Given the description of an element on the screen output the (x, y) to click on. 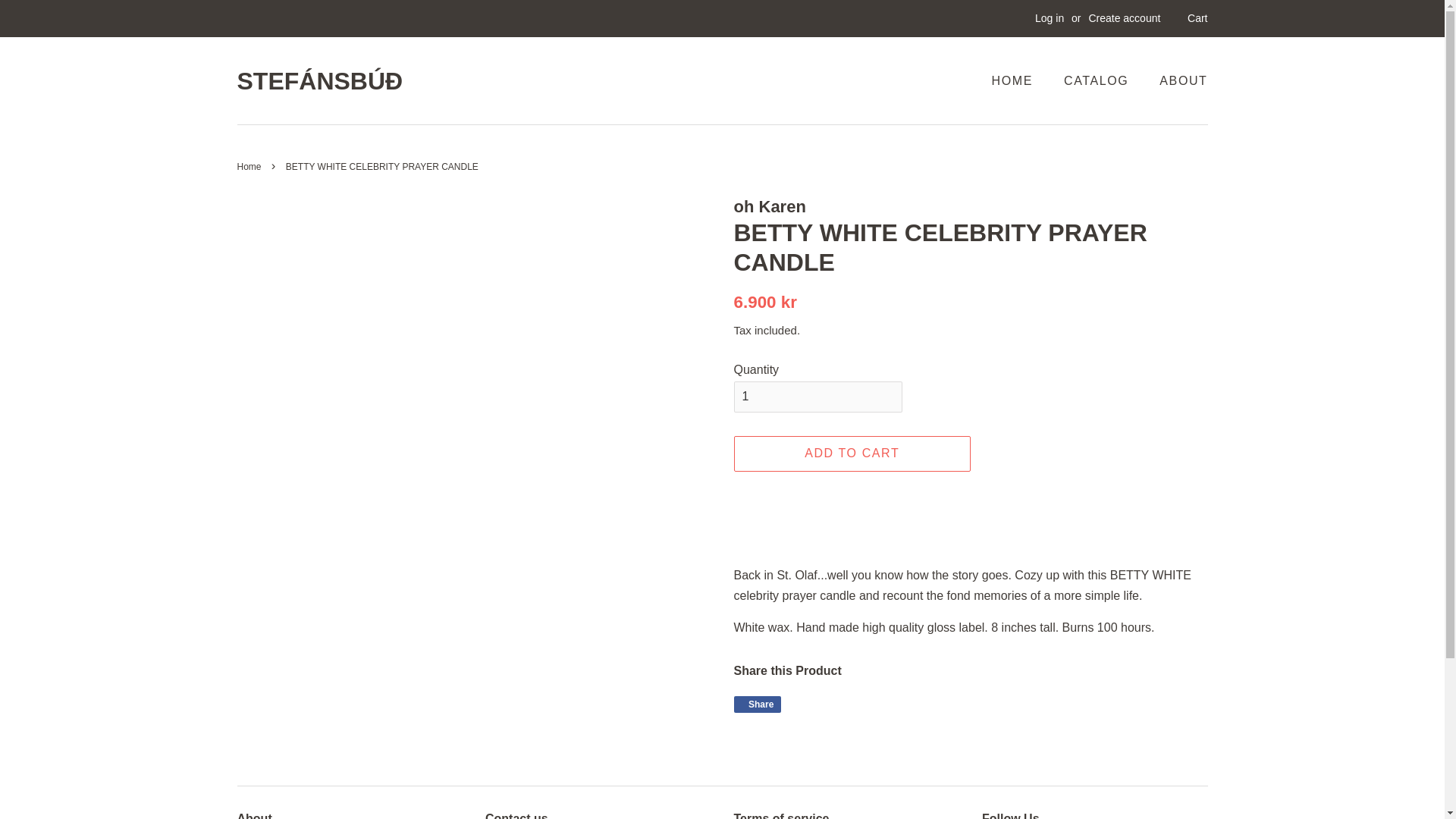
ABOUT (1177, 80)
Home (249, 166)
Cart (1197, 18)
1 (817, 396)
Create account (1123, 18)
Share on Facebook (757, 704)
Log in (757, 704)
CATALOG (1049, 18)
ADD TO CART (1097, 80)
